Given the description of an element on the screen output the (x, y) to click on. 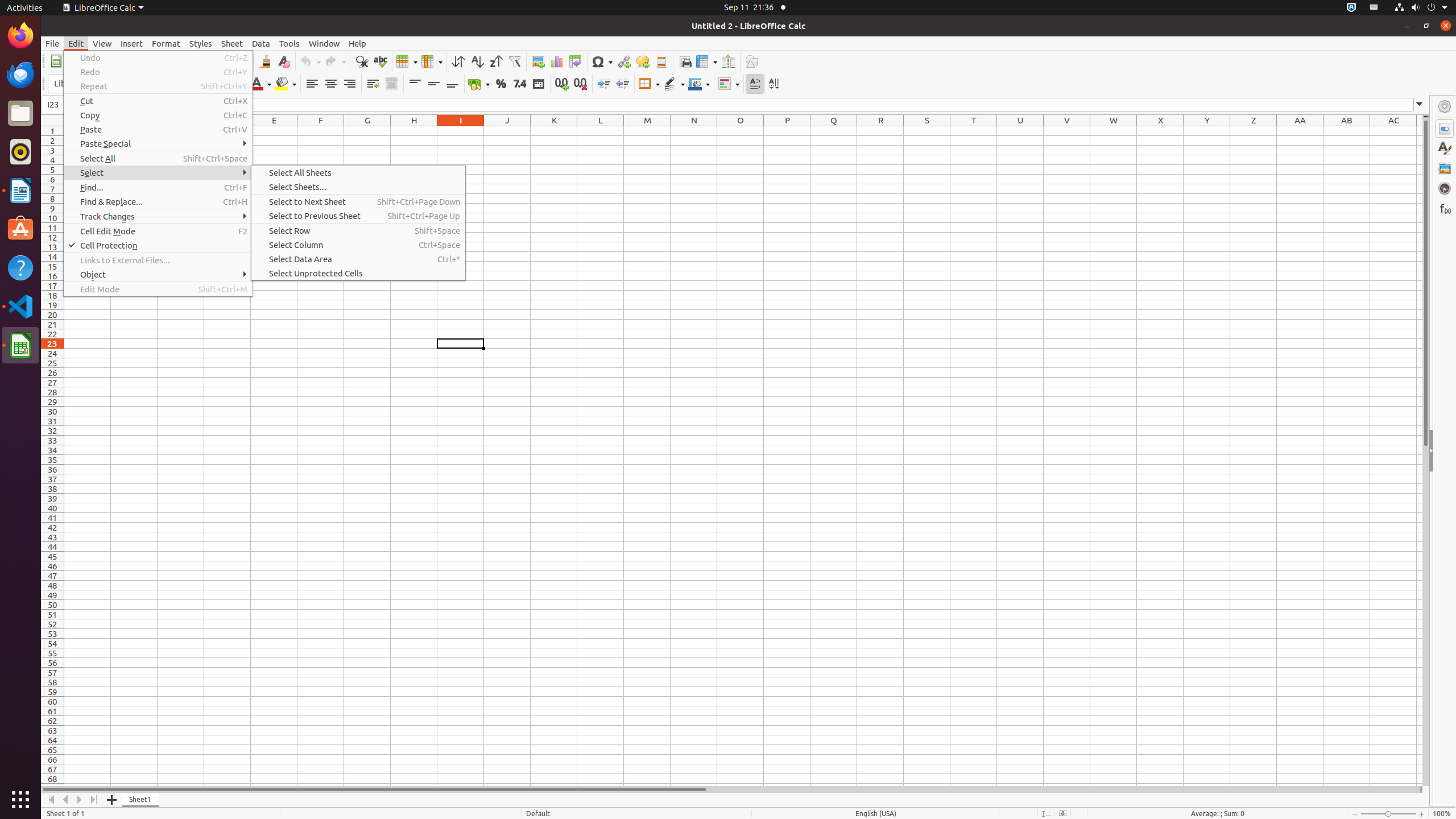
Paste Element type: menu-item (157, 129)
Chart Element type: push-button (556, 61)
O1 Element type: table-cell (740, 130)
Redo Element type: push-button (334, 61)
